Given the description of an element on the screen output the (x, y) to click on. 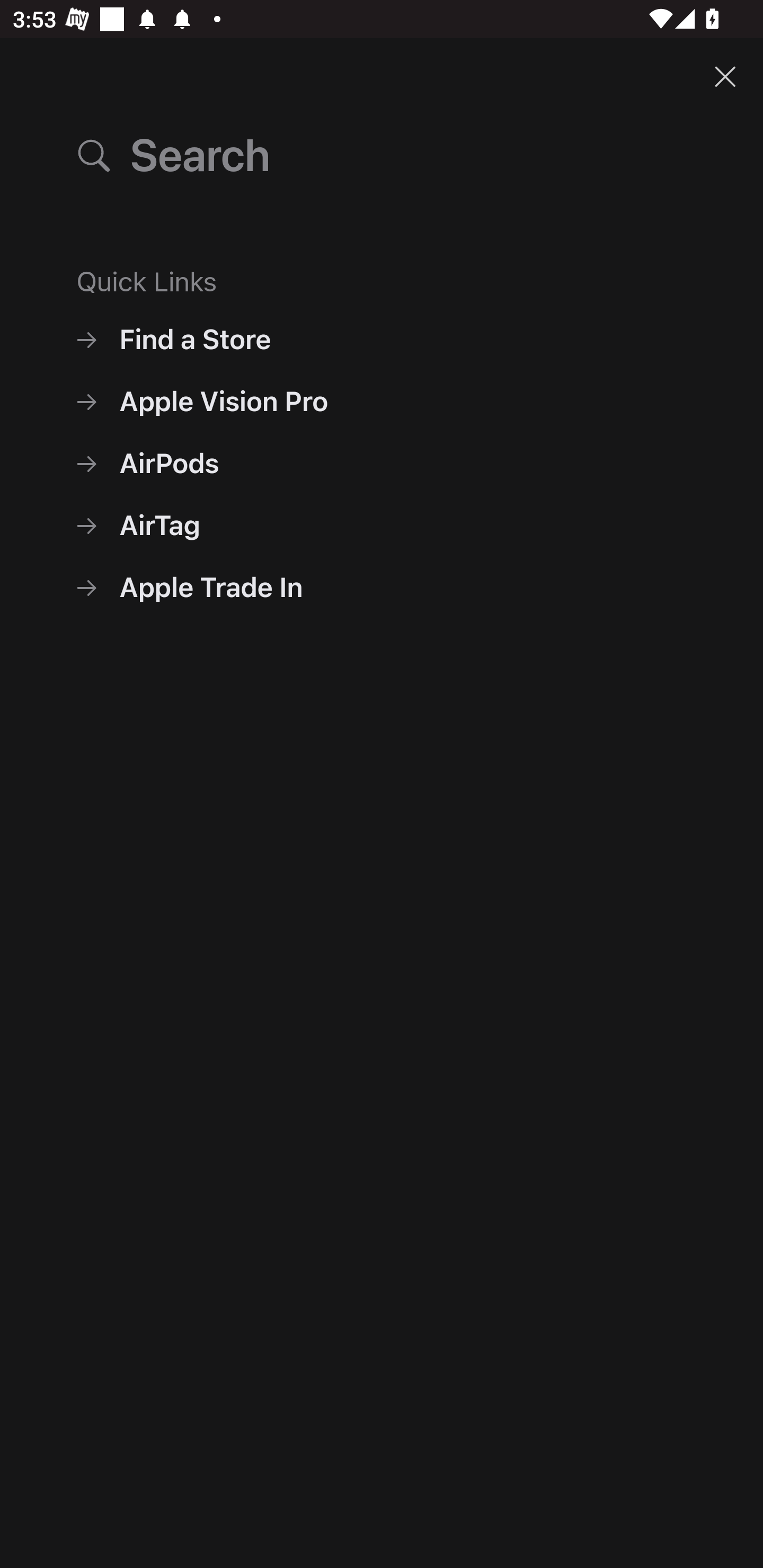
Close (724, 75)
Find a Store (381, 339)
Apple Vision Pro (381, 401)
AirPods (381, 463)
AirTag (381, 524)
Apple Trade In (381, 587)
